Given the description of an element on the screen output the (x, y) to click on. 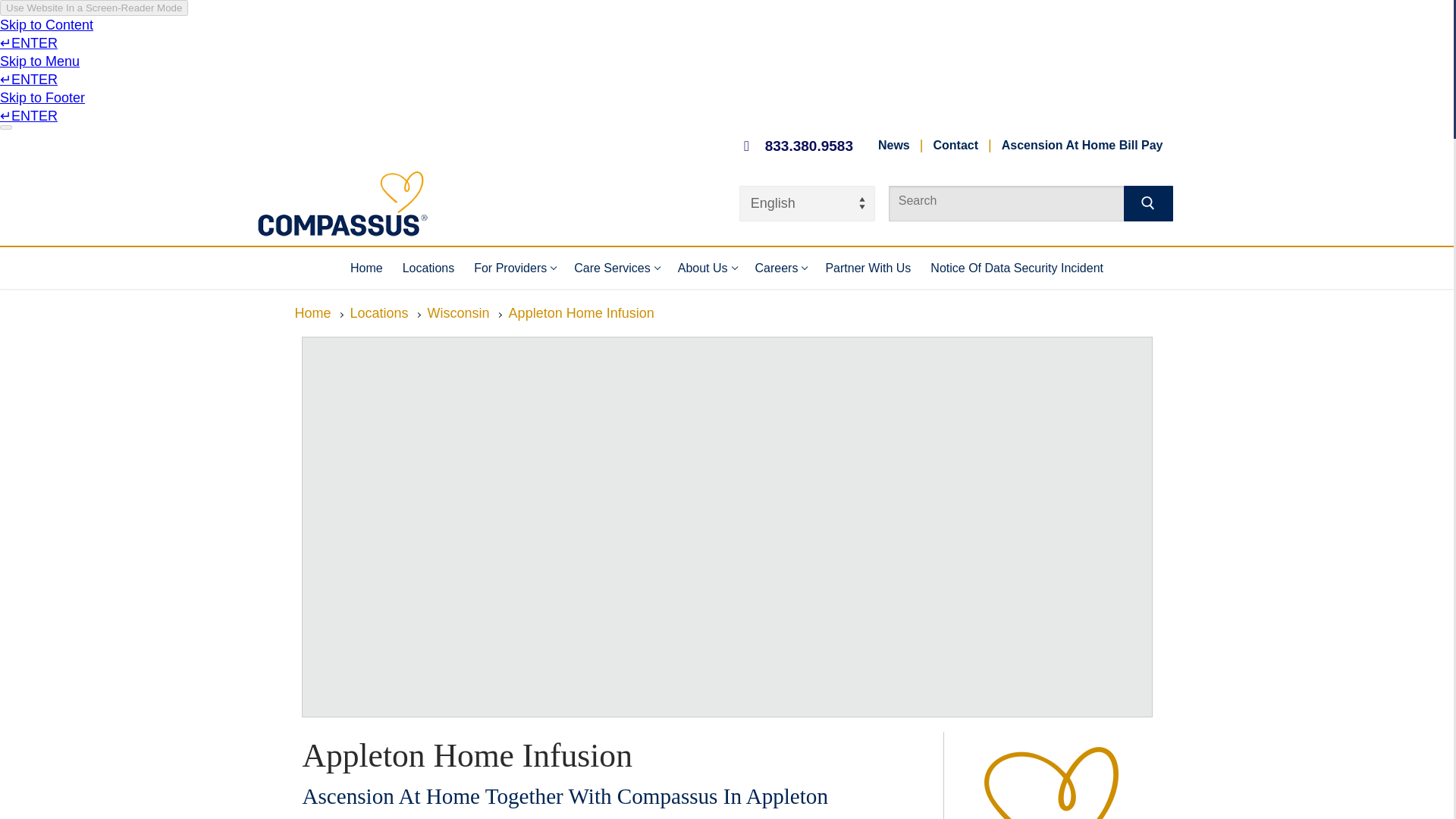
News (893, 145)
Search for: (1021, 200)
Ascension At Home Bill Pay (514, 267)
Locations (615, 267)
Contact (1082, 145)
833.380.9583 (428, 267)
Home (955, 145)
